Given the description of an element on the screen output the (x, y) to click on. 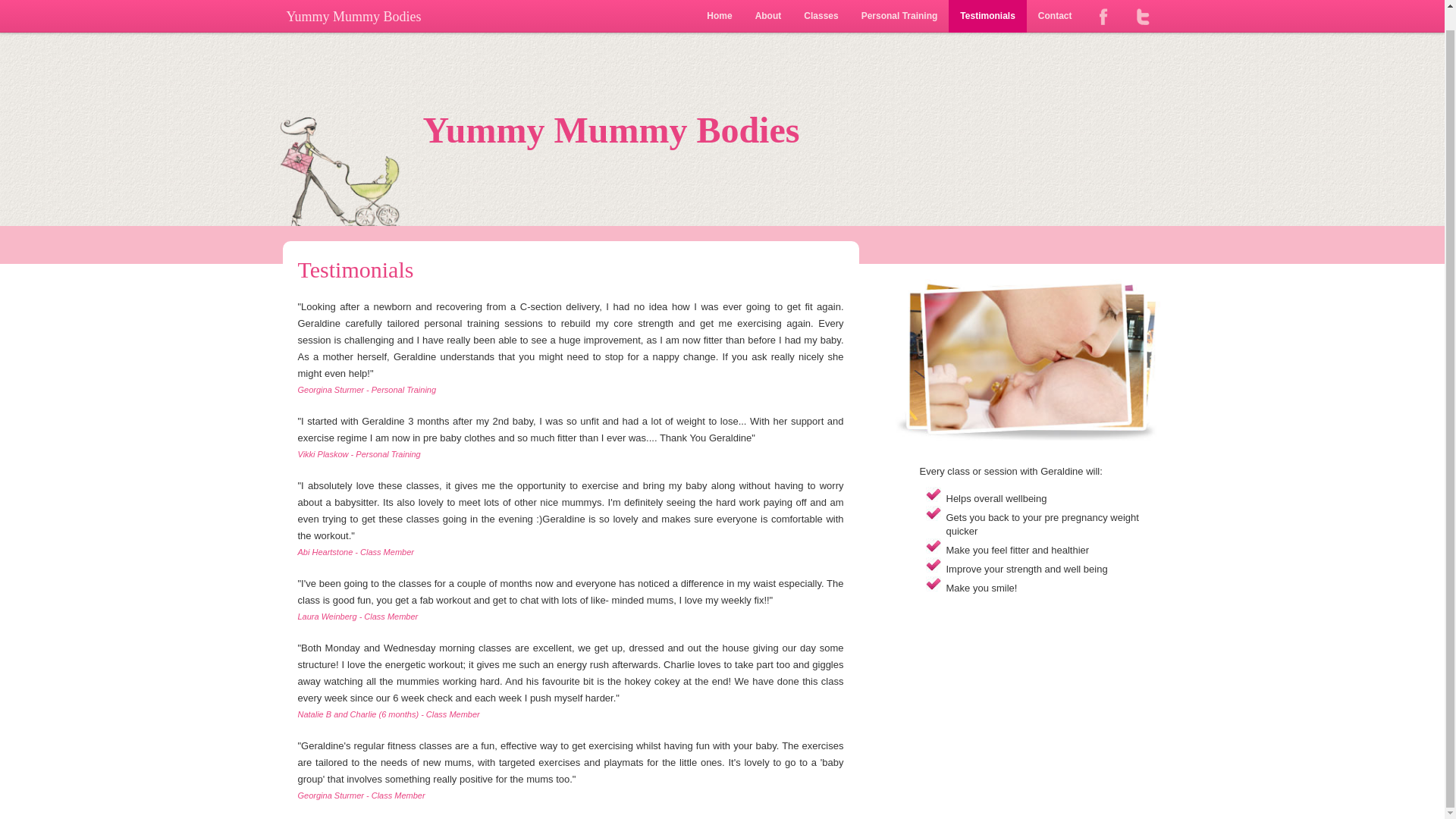
About (768, 6)
Contact (1054, 6)
Yummy Mummy Bodies (354, 6)
Testimonials (987, 6)
Classes (820, 6)
Personal Training (899, 6)
Yummy Mummy Bodies (722, 130)
Home (718, 6)
